Given the description of an element on the screen output the (x, y) to click on. 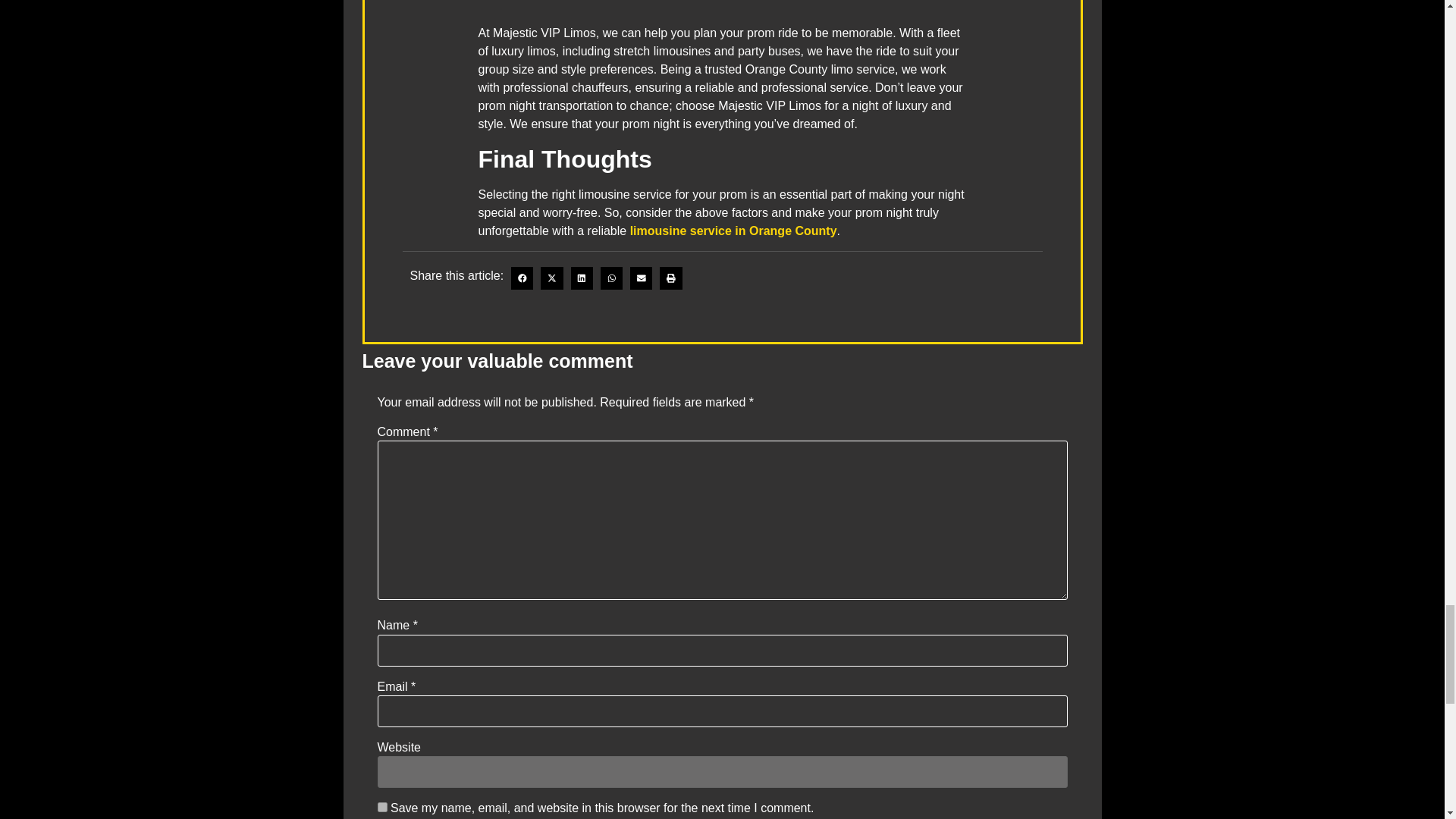
yes (382, 807)
